Given the description of an element on the screen output the (x, y) to click on. 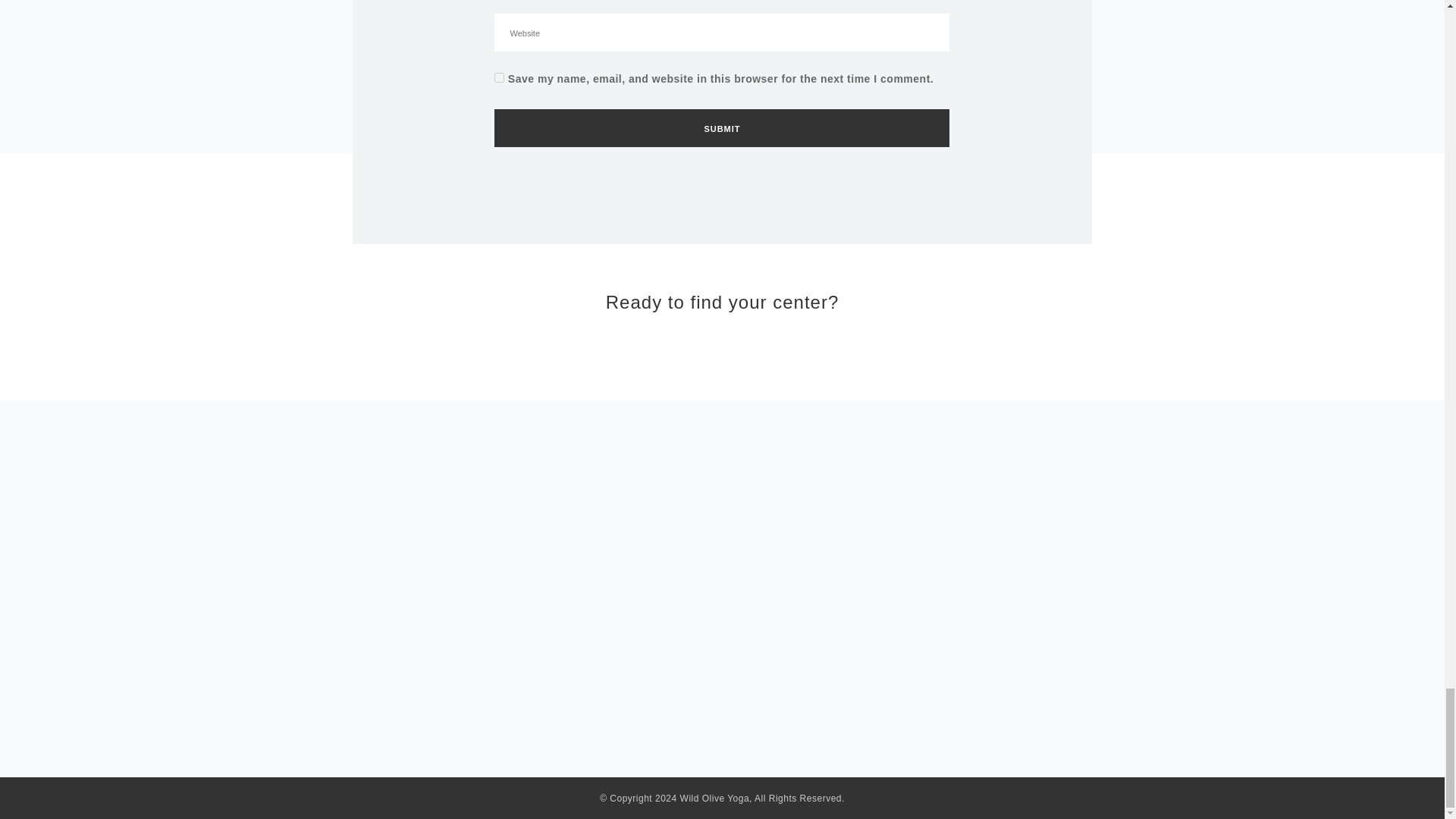
Sign Up (789, 602)
Submit (722, 127)
yes (499, 77)
Submit (722, 127)
